Given the description of an element on the screen output the (x, y) to click on. 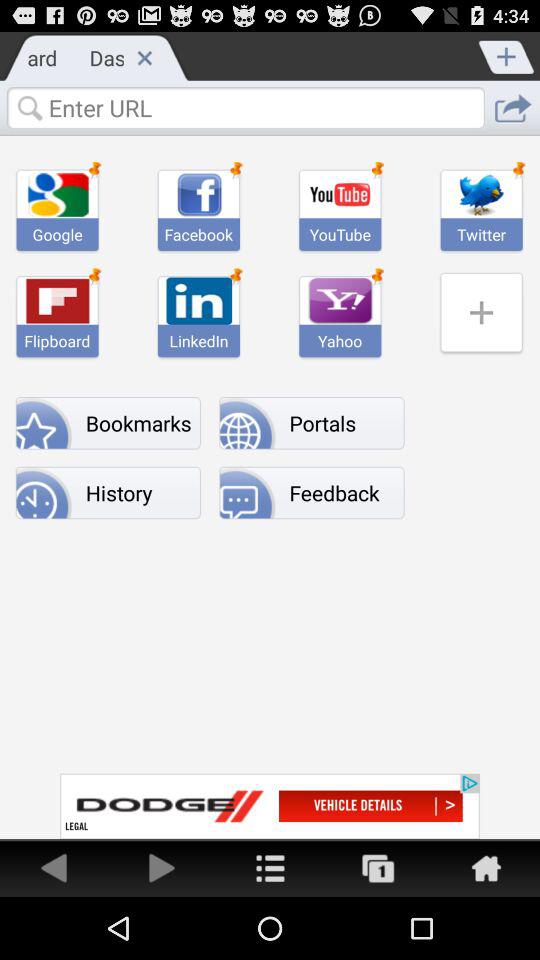
search url (245, 107)
